Given the description of an element on the screen output the (x, y) to click on. 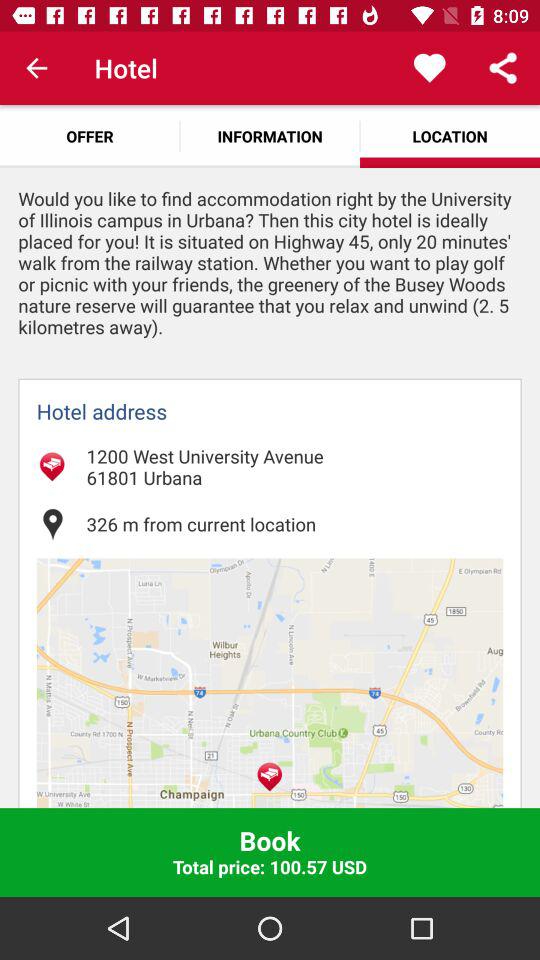
turn on the icon below the 326 m from (269, 683)
